Given the description of an element on the screen output the (x, y) to click on. 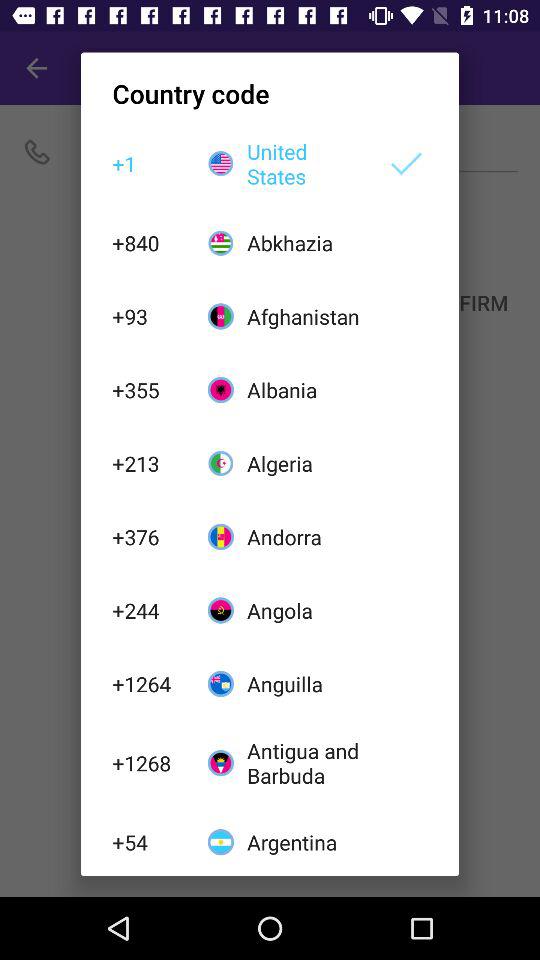
select the abkhazia item (305, 242)
